Given the description of an element on the screen output the (x, y) to click on. 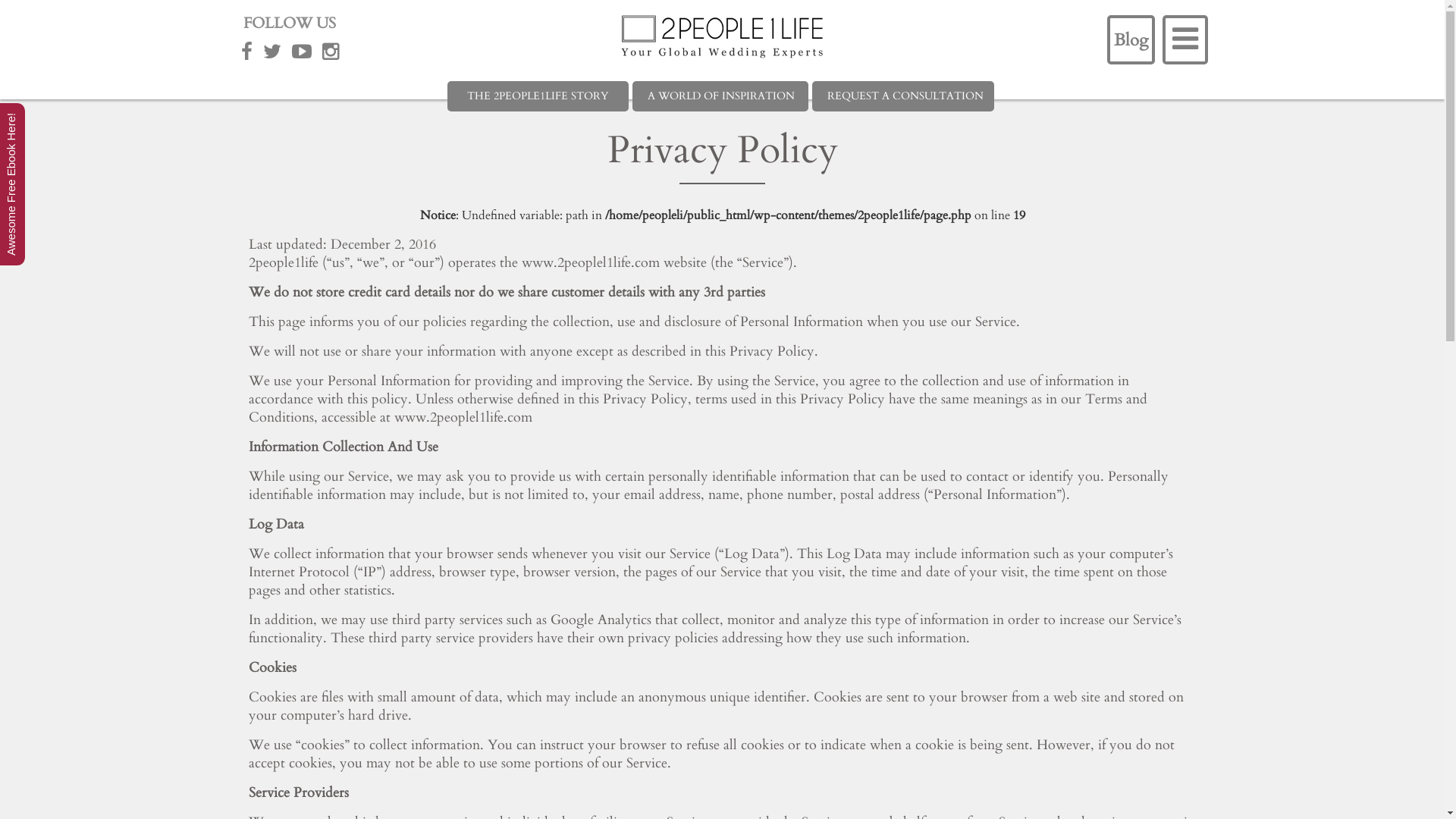
REQUEST A CONSULTATION Element type: text (903, 96)
THE 2PEOPLE1LIFE STORY Element type: text (538, 96)
A WORLD OF INSPIRATION Element type: text (720, 96)
Blog Element type: text (1130, 39)
